Given the description of an element on the screen output the (x, y) to click on. 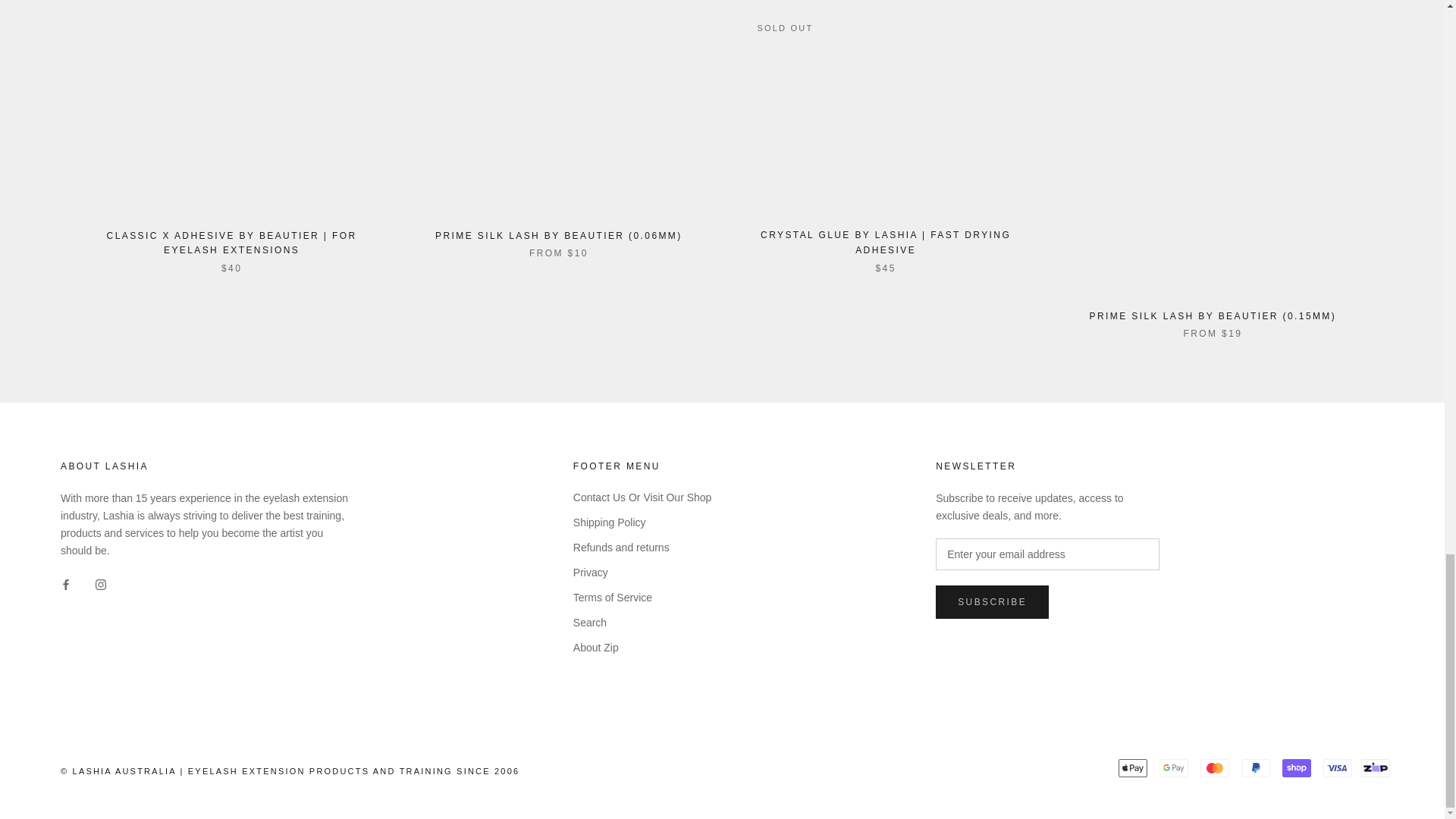
Shop Pay (1296, 768)
PayPal (1255, 768)
Google Pay (1173, 768)
Visa (1337, 768)
Mastercard (1213, 768)
Apple Pay (1132, 768)
